Given the description of an element on the screen output the (x, y) to click on. 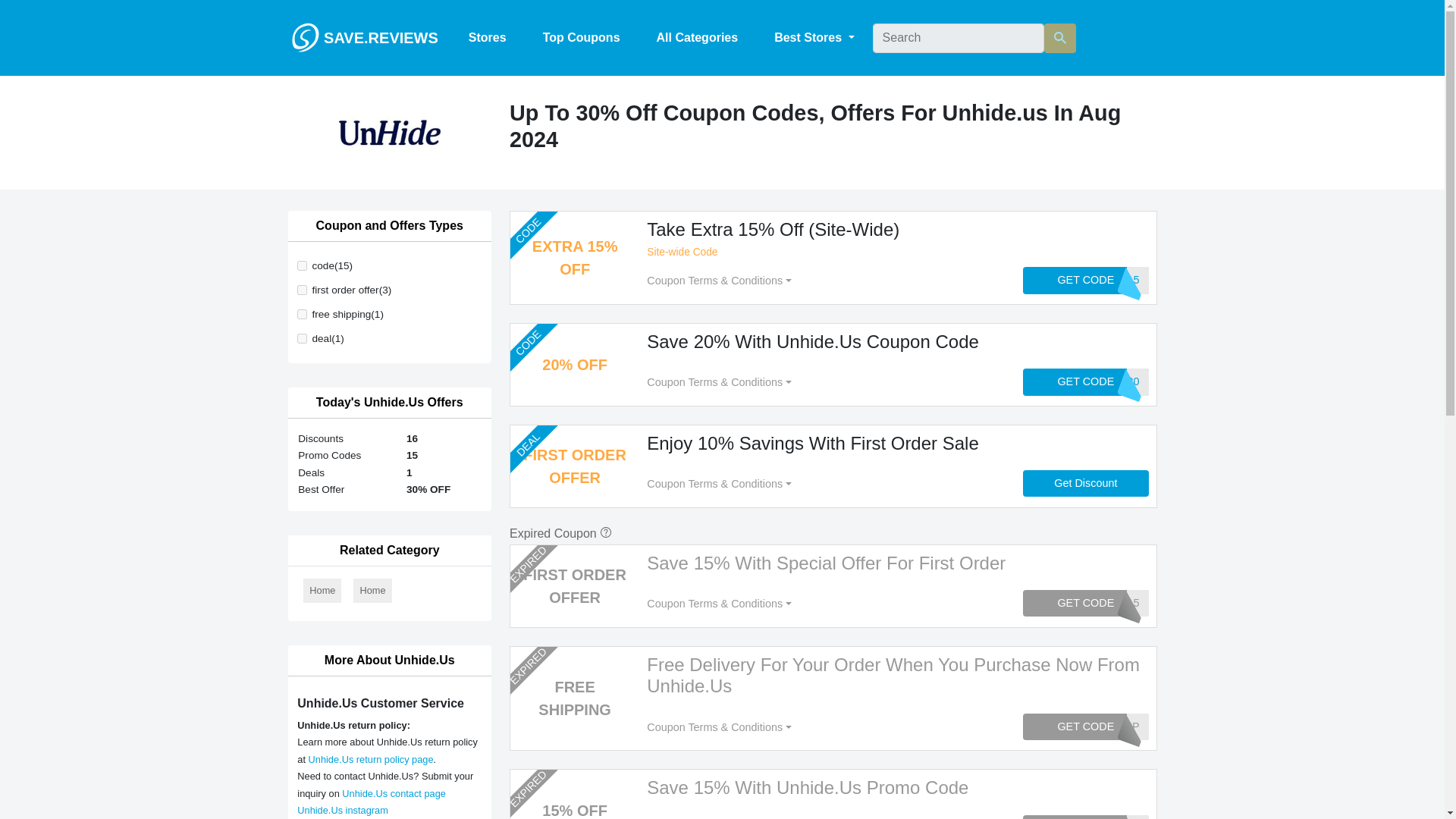
Unhide.Us contact page (393, 793)
Unhide.Us return policy page (370, 758)
Unhide.Us instagram (342, 809)
deal (302, 338)
Home (321, 590)
Home (372, 590)
SAVE.REVIEWS (364, 37)
All Categories (697, 38)
Top Coupons (581, 38)
free shipping (302, 314)
